Given the description of an element on the screen output the (x, y) to click on. 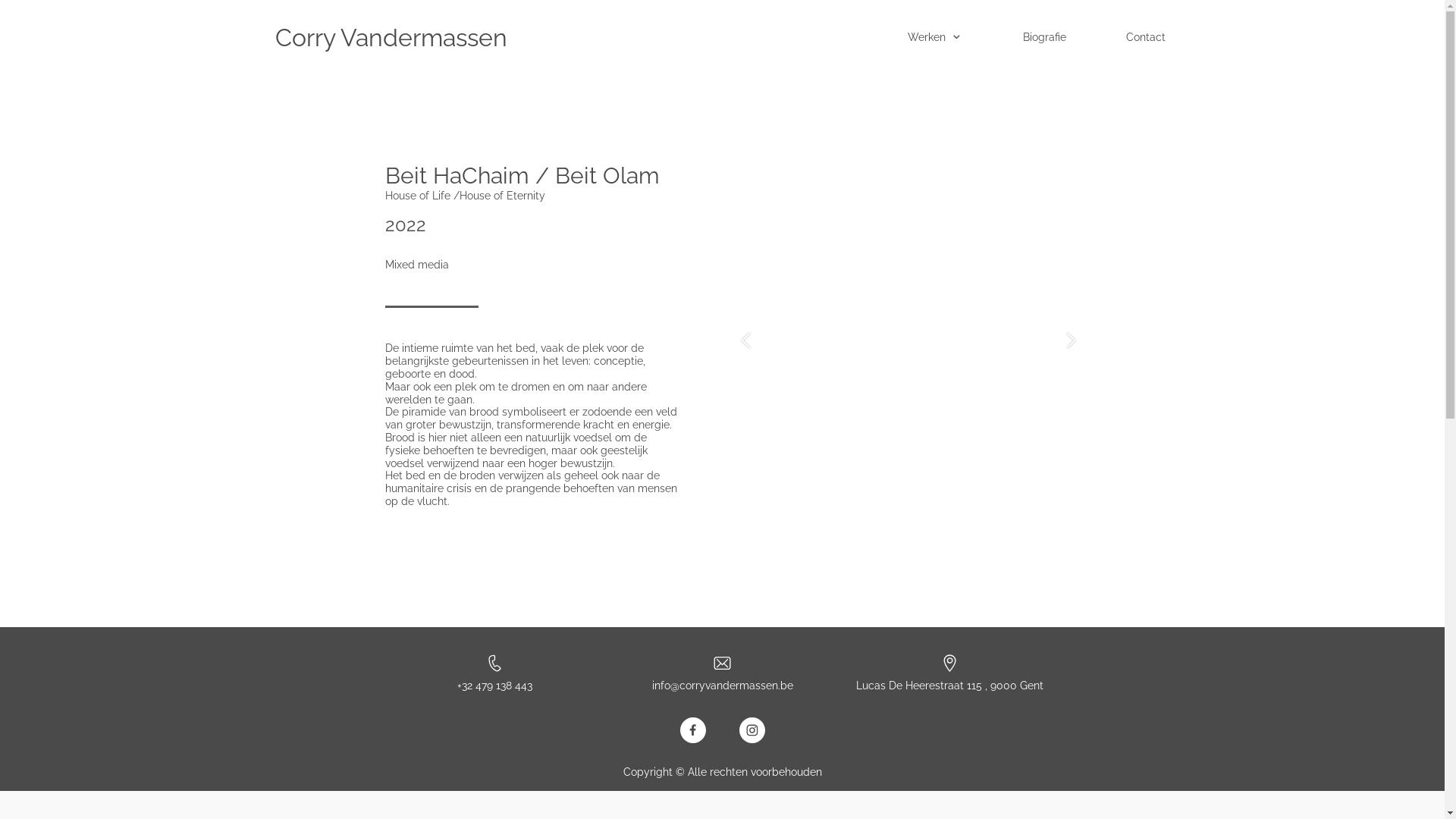
Contact Element type: text (1152, 38)
Lucas De Heerestraat 115 , 9000 Gent Element type: text (949, 685)
Biografie Element type: text (1051, 38)
+32 479 138 443 Element type: text (494, 685)
info@corryvandermassen.be Element type: text (722, 685)
Werken Element type: text (941, 38)
